Given the description of an element on the screen output the (x, y) to click on. 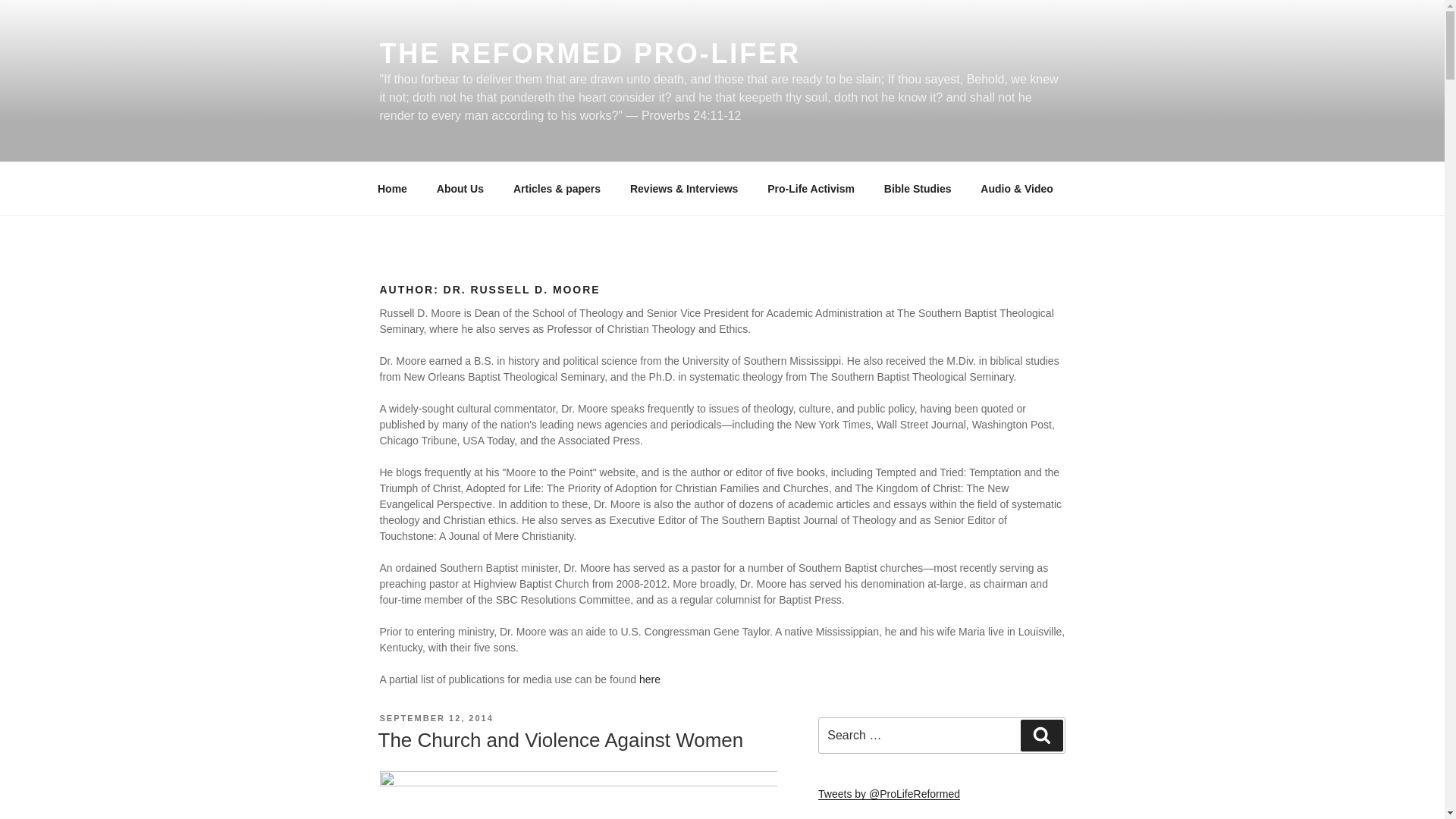
Search (1041, 735)
THE REFORMED PRO-LIFER (588, 52)
Pro-Life Activism (810, 188)
here (650, 679)
SEPTEMBER 12, 2014 (435, 717)
About Us (459, 188)
The Church and Violence Against Women (559, 739)
Bible Studies (916, 188)
Home (392, 188)
